Given the description of an element on the screen output the (x, y) to click on. 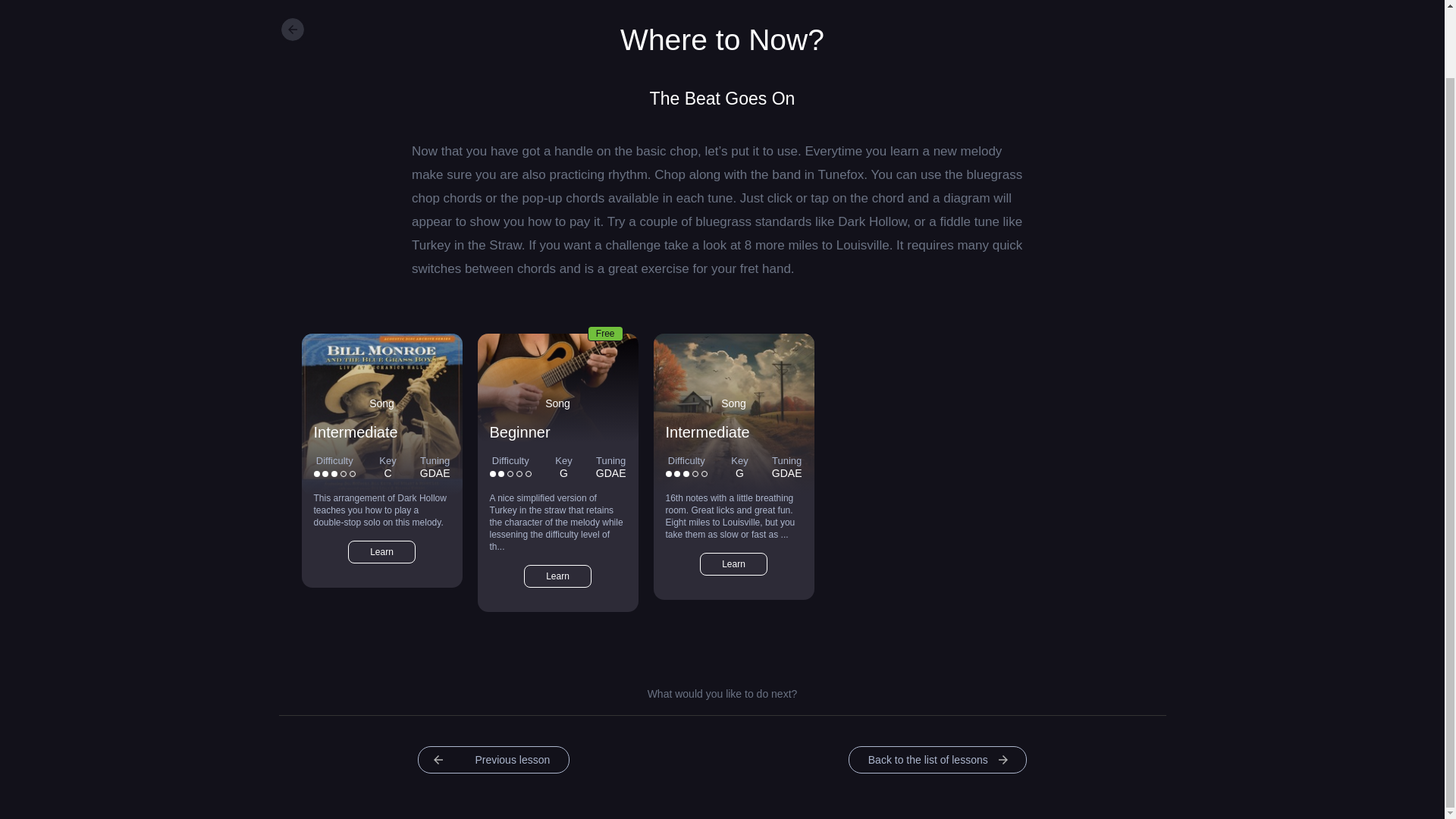
Intermediate (355, 432)
Beginner (519, 432)
Learn (380, 551)
